Given the description of an element on the screen output the (x, y) to click on. 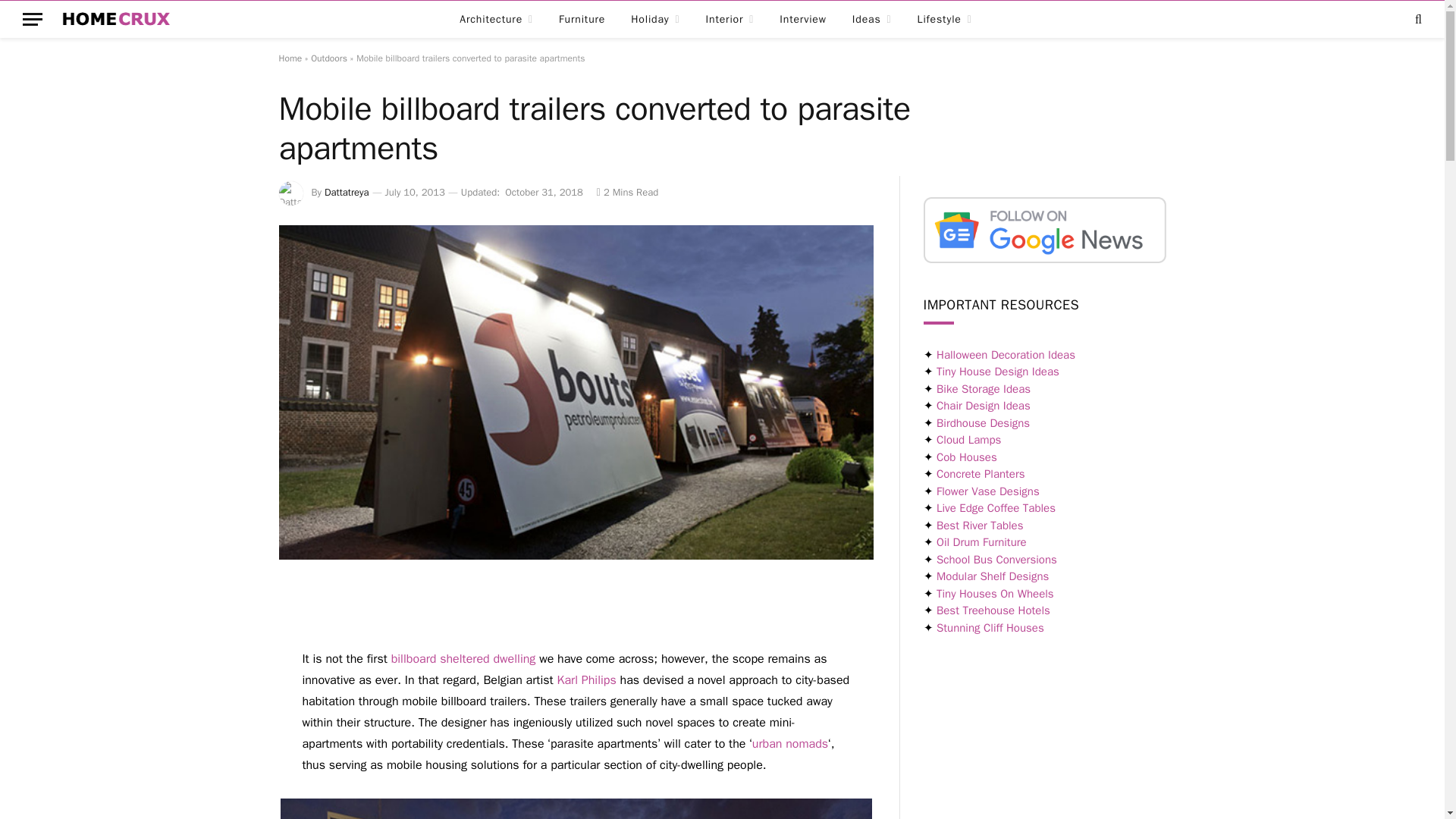
Homecrux (116, 19)
Architecture (496, 19)
Posts by Dattatreya (346, 192)
